Given the description of an element on the screen output the (x, y) to click on. 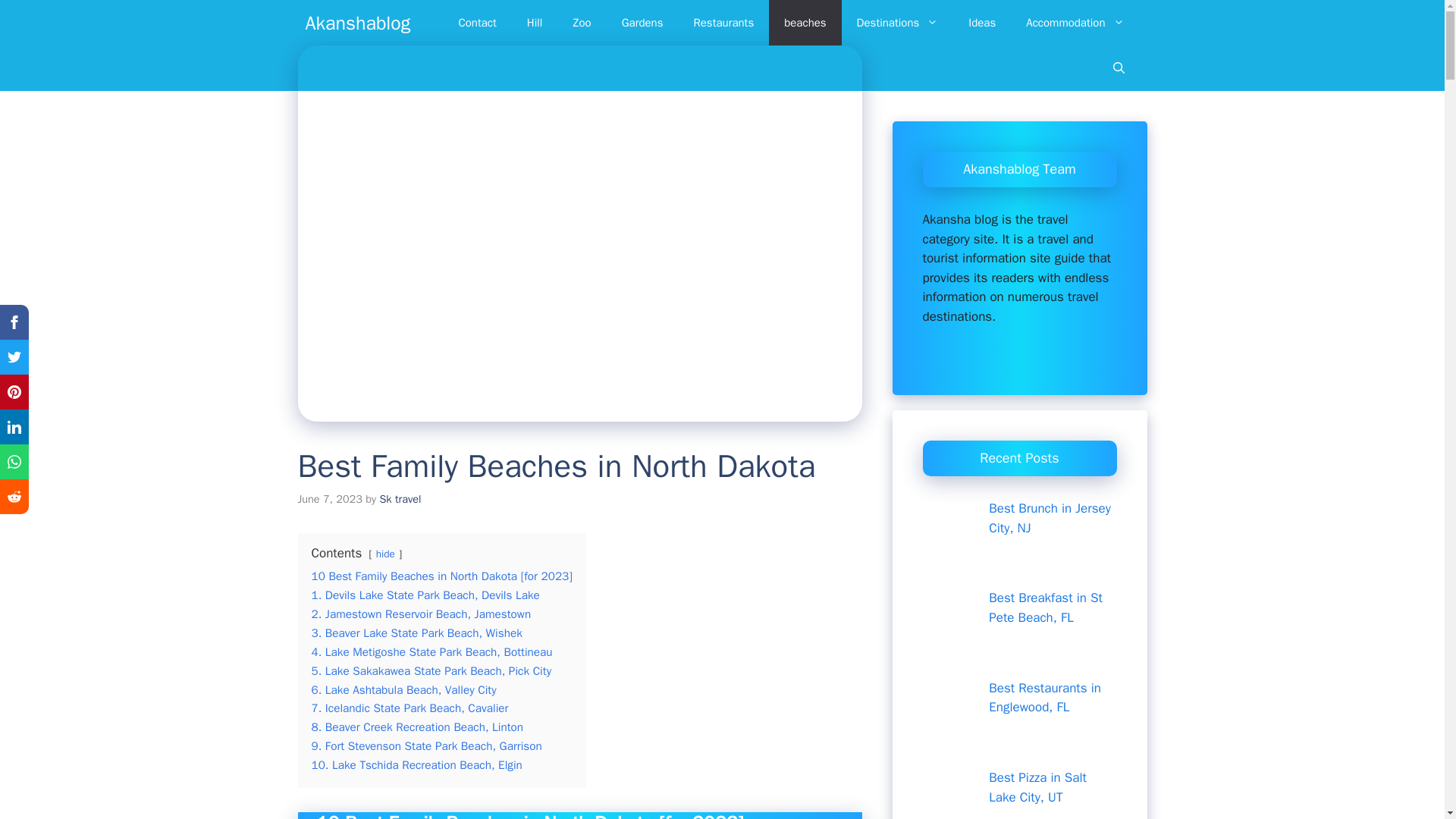
Accommodation (1074, 22)
5. Lake Sakakawea State Park Beach, Pick City (431, 670)
6. Lake Ashtabula Beach, Valley City (403, 689)
2. Jamestown Reservoir Beach, Jamestown (421, 613)
8. Beaver Creek Recreation Beach, Linton (416, 726)
Zoo (581, 22)
9. Fort Stevenson State Park Beach, Garrison (426, 745)
View all posts by Sk travel (399, 499)
10. Lake Tschida Recreation Beach, Elgin (416, 765)
4. Lake Metigoshe State Park Beach, Bottineau (431, 652)
Destinations (897, 22)
1. Devils Lake State Park Beach, Devils Lake (424, 595)
Ideas (981, 22)
Gardens (642, 22)
